Given the description of an element on the screen output the (x, y) to click on. 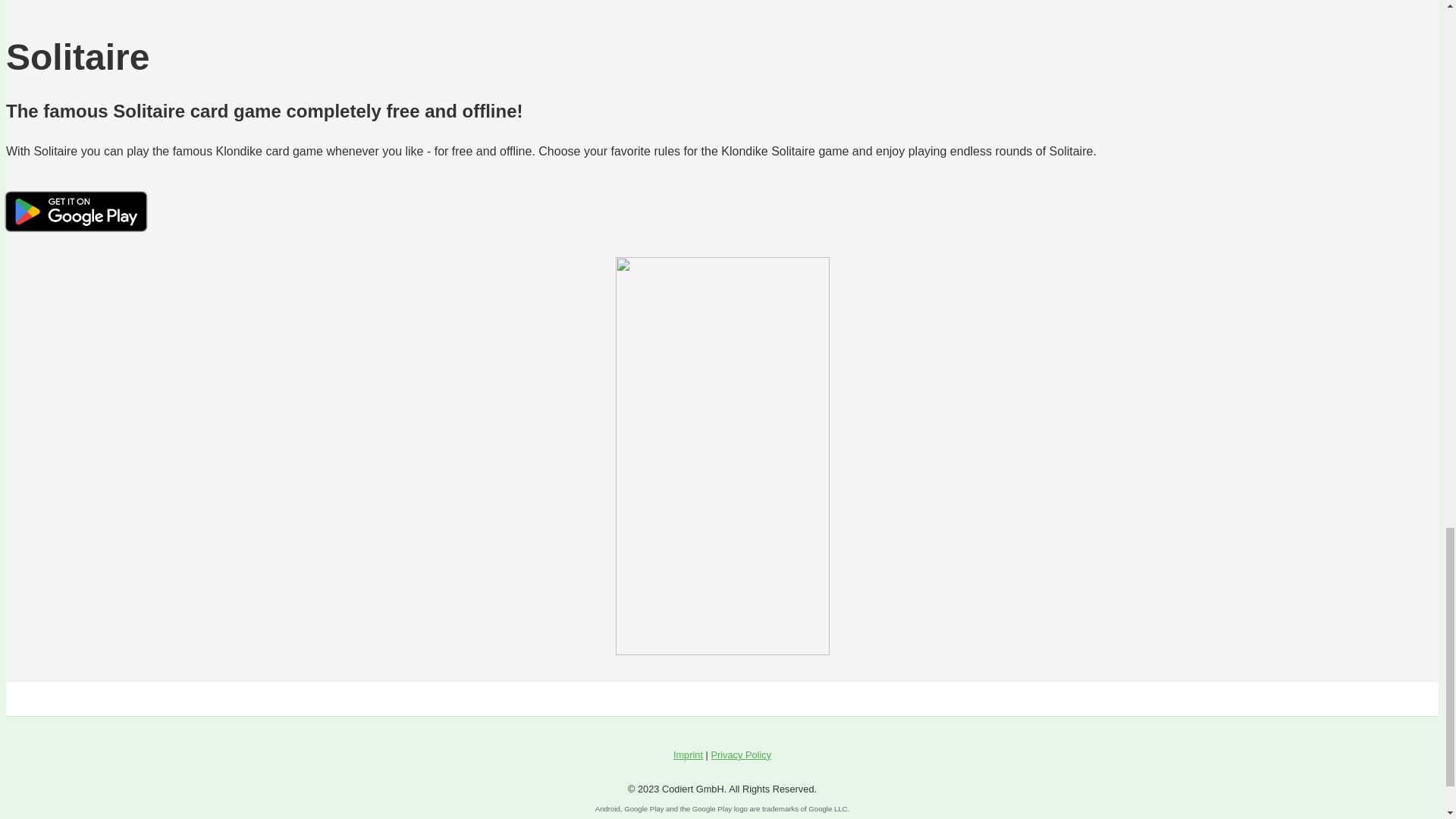
Imprint (687, 754)
Privacy Policy (740, 754)
